Given the description of an element on the screen output the (x, y) to click on. 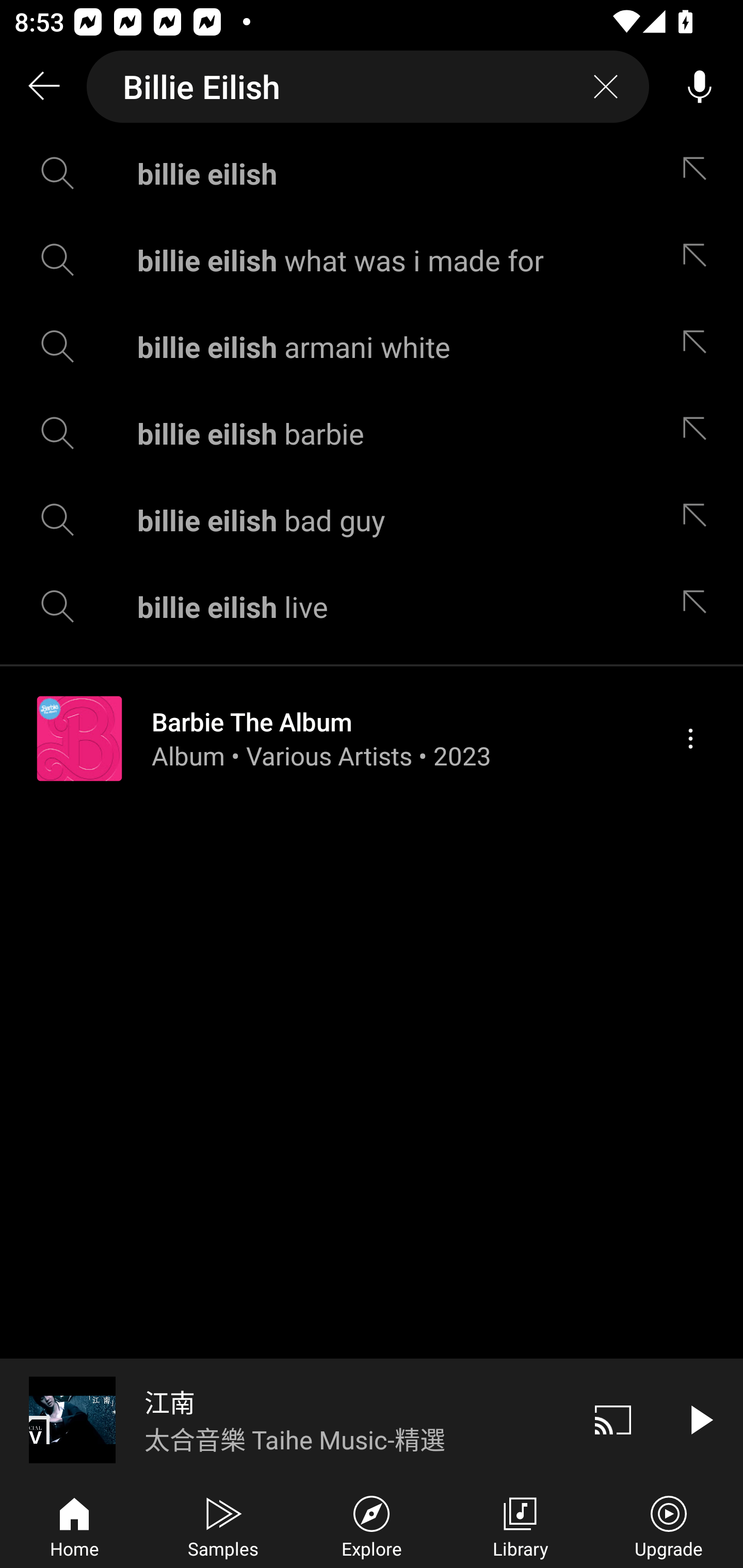
Search back (43, 86)
Billie Eilish (367, 86)
Clear search (605, 86)
Voice search (699, 86)
billie eilish Edit suggestion billie eilish (371, 173)
Edit suggestion billie eilish (699, 173)
Edit suggestion billie eilish what was i made for (699, 259)
Edit suggestion billie eilish armani white (699, 346)
Edit suggestion billie eilish barbie (699, 433)
Edit suggestion billie eilish bad guy (699, 519)
Edit suggestion billie eilish live (699, 605)
Menu (690, 738)
江南 太合音樂 Taihe Music-精選 (284, 1419)
Cast. Disconnected (612, 1419)
Play video (699, 1419)
Home (74, 1524)
Samples (222, 1524)
Explore (371, 1524)
Library (519, 1524)
Upgrade (668, 1524)
